Given the description of an element on the screen output the (x, y) to click on. 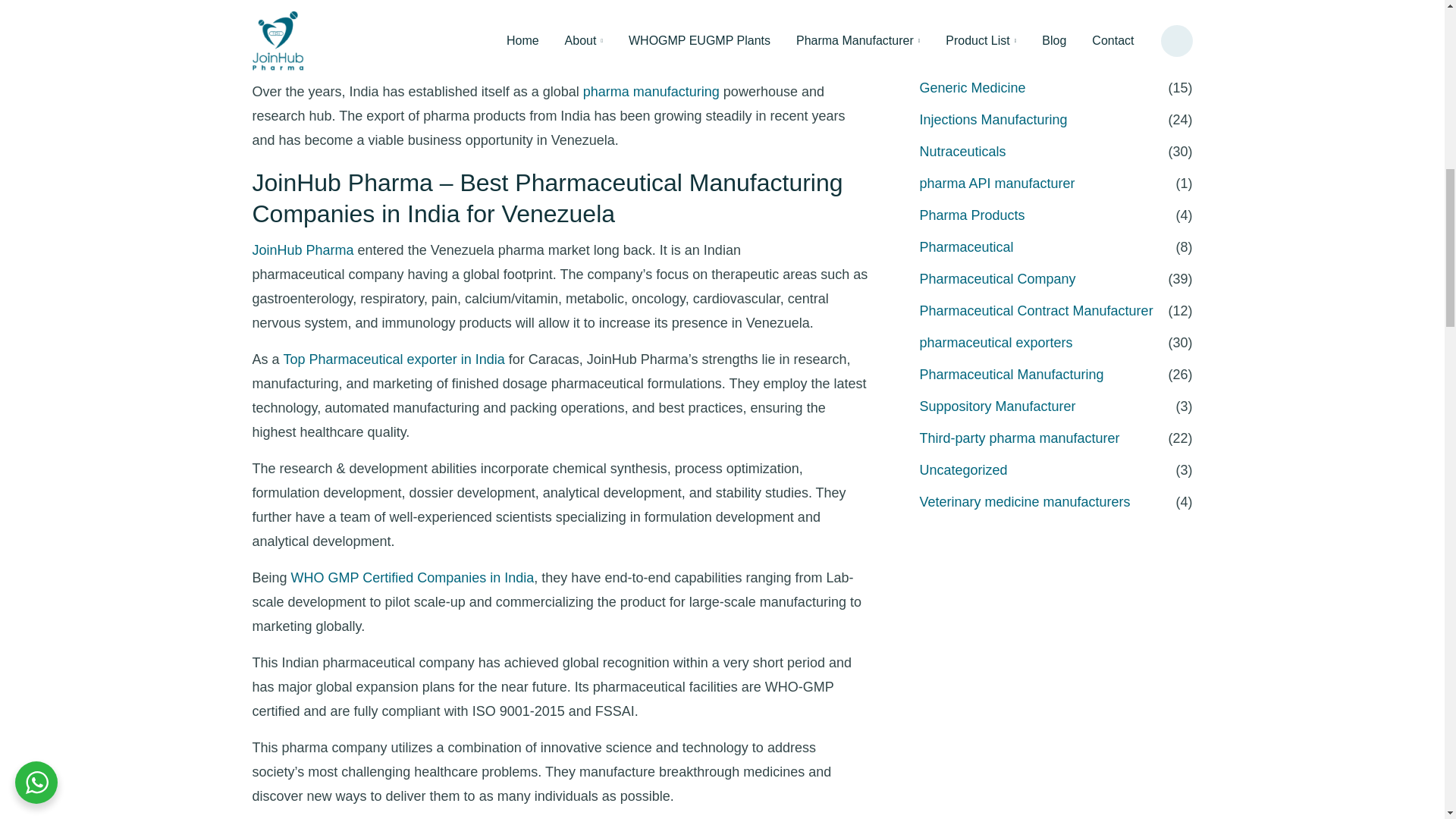
Top Pharmaceutical exporter in India (394, 359)
JoinHub Pharma (302, 249)
WHO GMP Certified Companies in India (412, 577)
pharma manufacturing (651, 91)
